Given the description of an element on the screen output the (x, y) to click on. 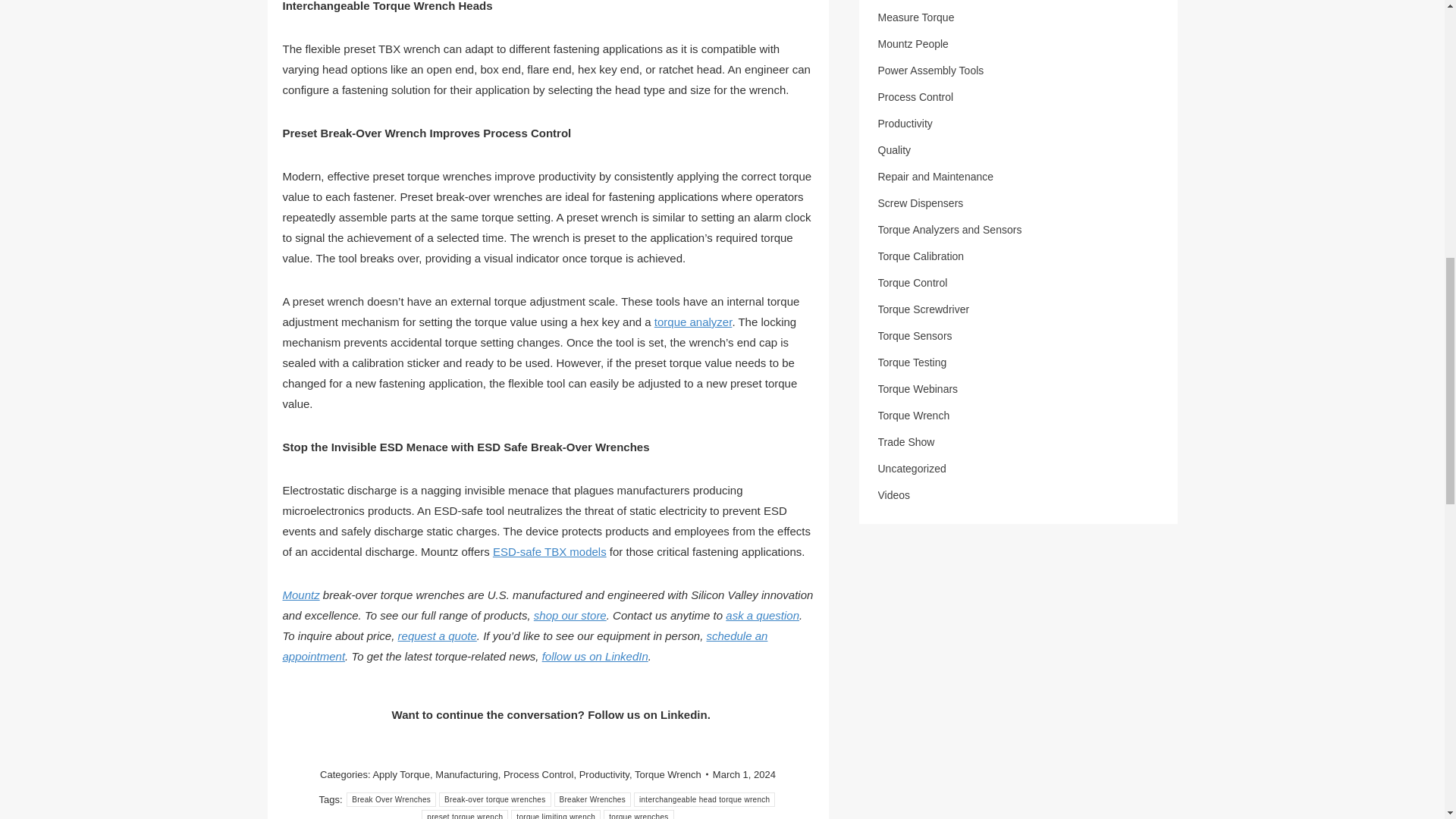
request a quote (437, 635)
ask a question (762, 615)
torque analyzer (692, 321)
schedule an appointment (524, 645)
10:06 AM (744, 773)
follow us on LinkedIn (594, 656)
ESD-safe TBX models (550, 551)
shop our store (570, 615)
Mountz (300, 594)
